Given the description of an element on the screen output the (x, y) to click on. 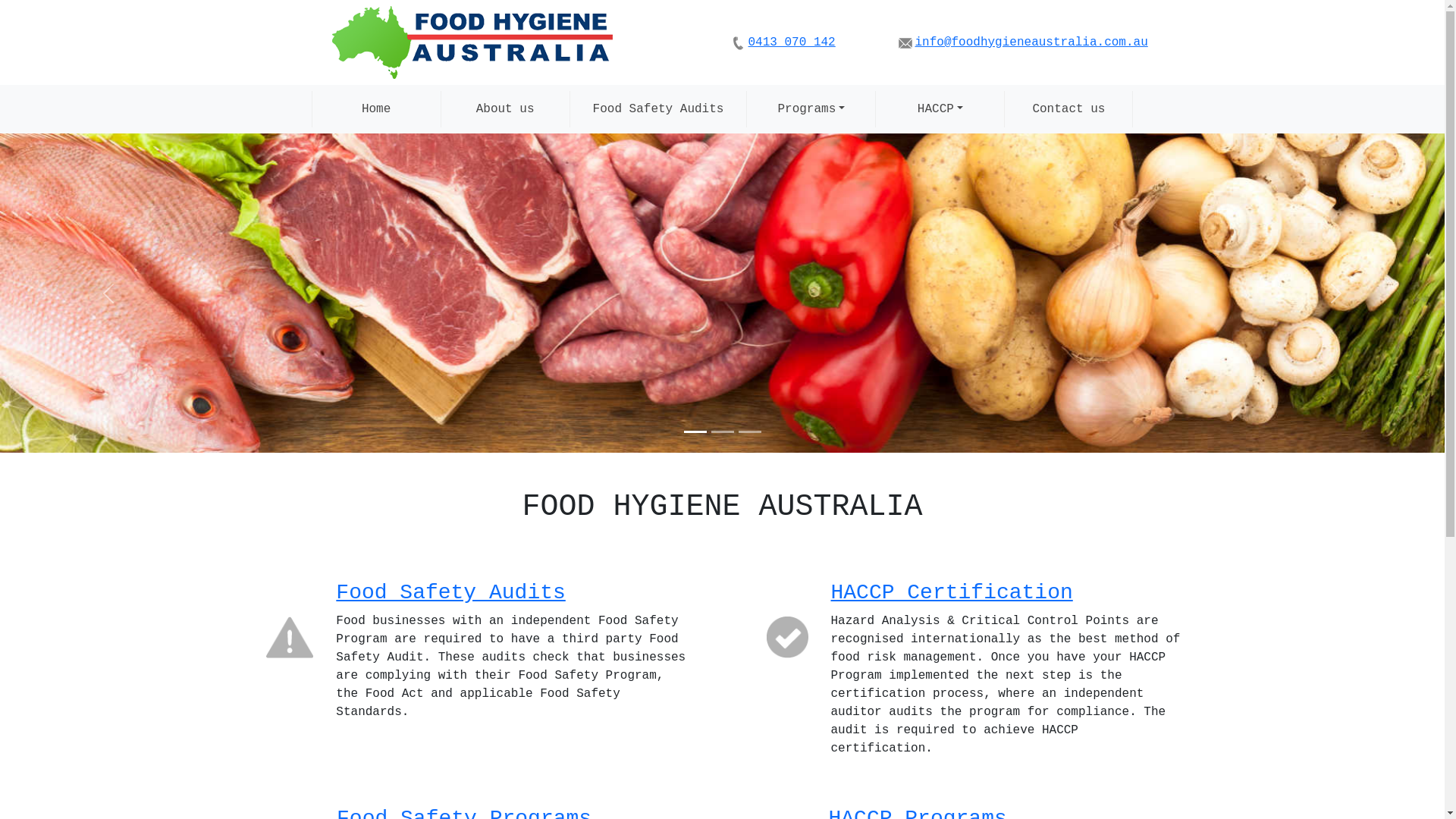
About us Element type: text (504, 109)
HACCP Certification Element type: text (952, 592)
Food Safety Audits Element type: text (449, 592)
0413 070 142 Element type: text (790, 42)
Home Element type: text (375, 109)
Contact us Element type: text (1068, 109)
Food Safety Audits Element type: text (657, 109)
Previous Element type: text (108, 292)
Next Element type: text (1335, 292)
HACCP Element type: text (939, 109)
Programs Element type: text (810, 109)
info@foodhygieneaustralia.com.au Element type: text (1030, 42)
